Given the description of an element on the screen output the (x, y) to click on. 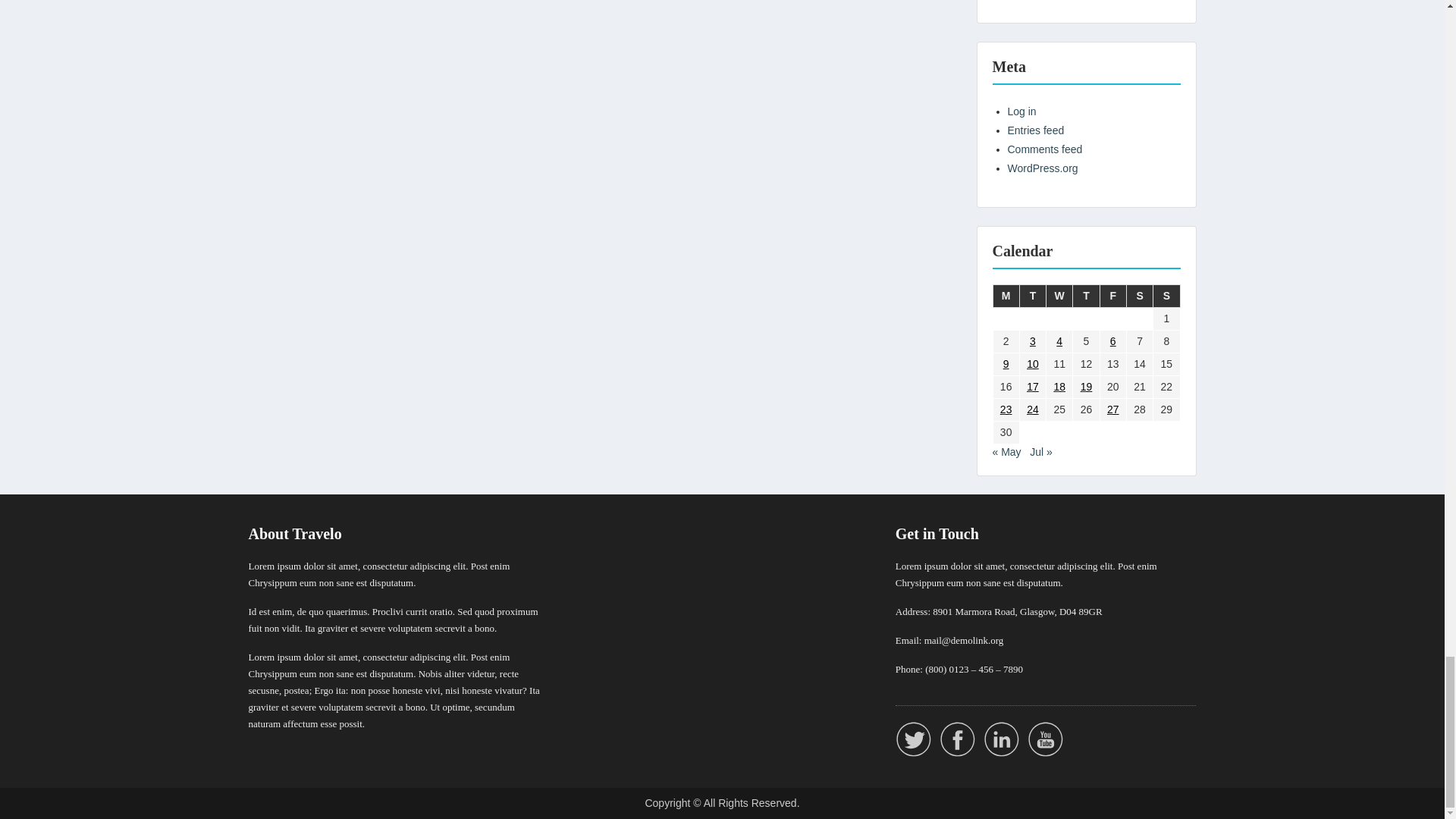
Friday (1112, 295)
Sunday (1166, 295)
Tuesday (1032, 295)
Thursday (1086, 295)
Saturday (1139, 295)
Wednesday (1059, 295)
Monday (1005, 295)
